Given the description of an element on the screen output the (x, y) to click on. 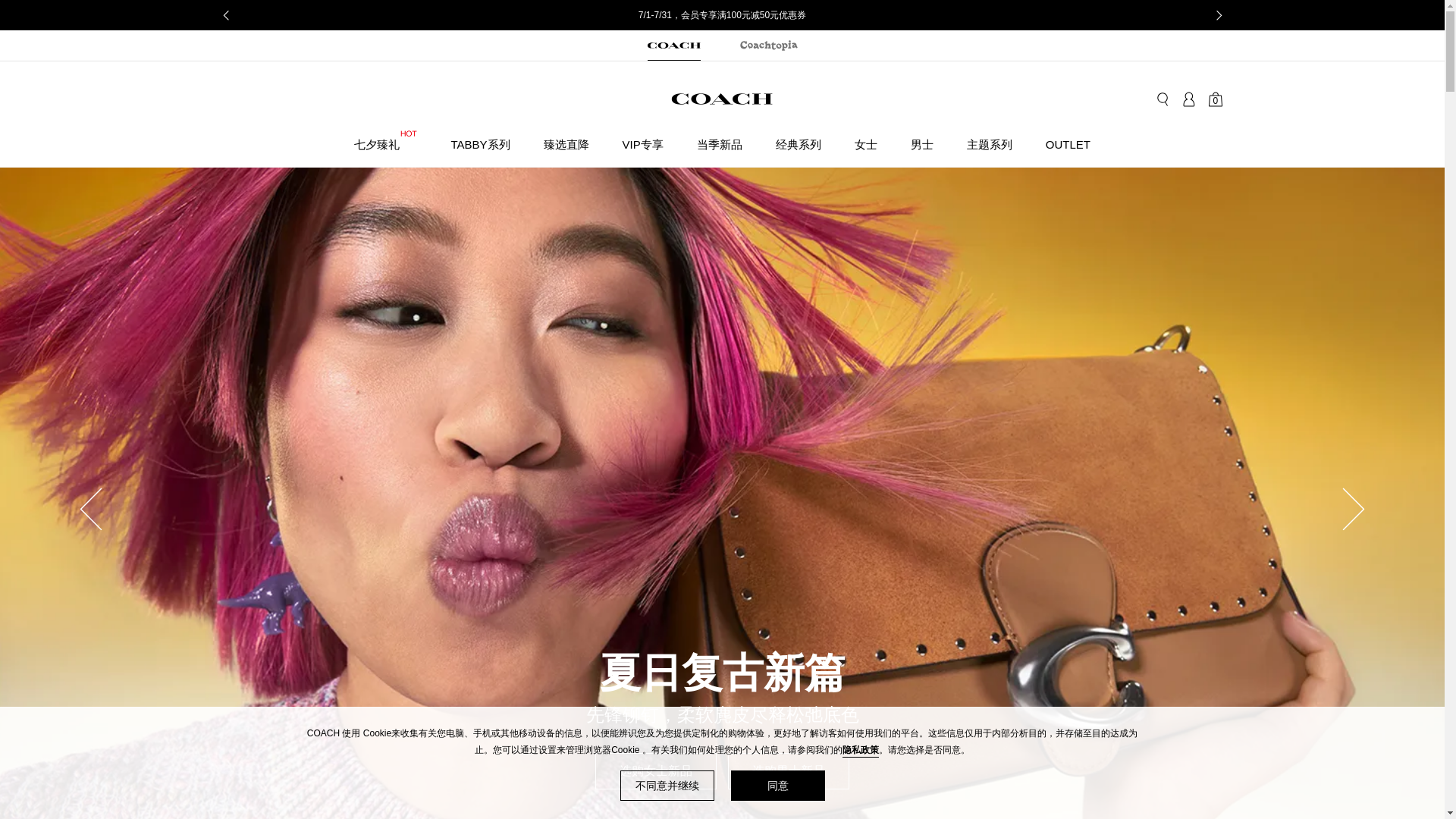
0 (1215, 99)
